Given the description of an element on the screen output the (x, y) to click on. 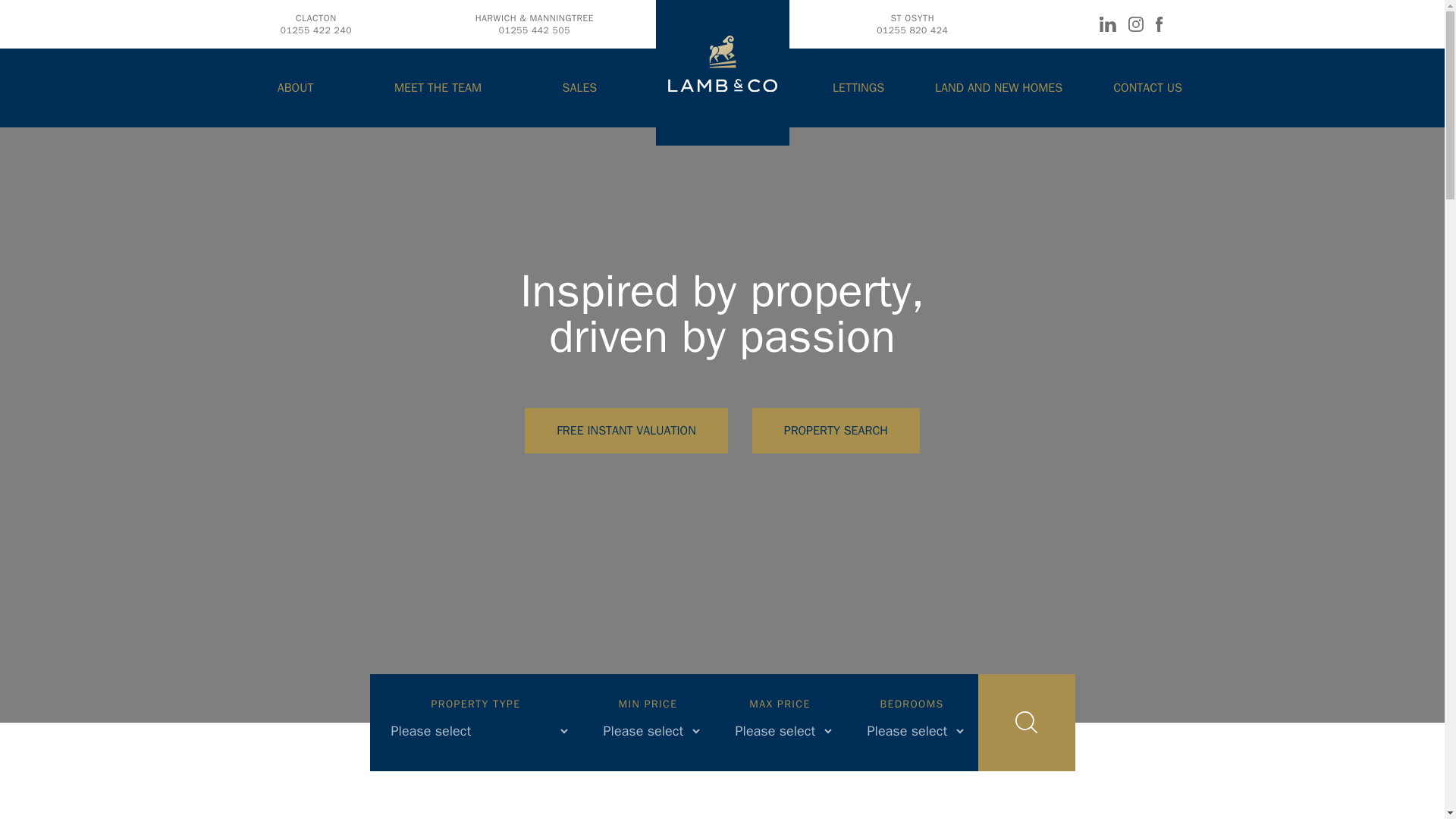
LETTINGS (911, 24)
MEET THE TEAM (857, 87)
LAND AND NEW HOMES (316, 24)
SALES (437, 87)
FREE INSTANT VALUATION (998, 87)
CONTACT US (579, 87)
PROPERTY SEARCH (626, 430)
ABOUT (1147, 87)
